Given the description of an element on the screen output the (x, y) to click on. 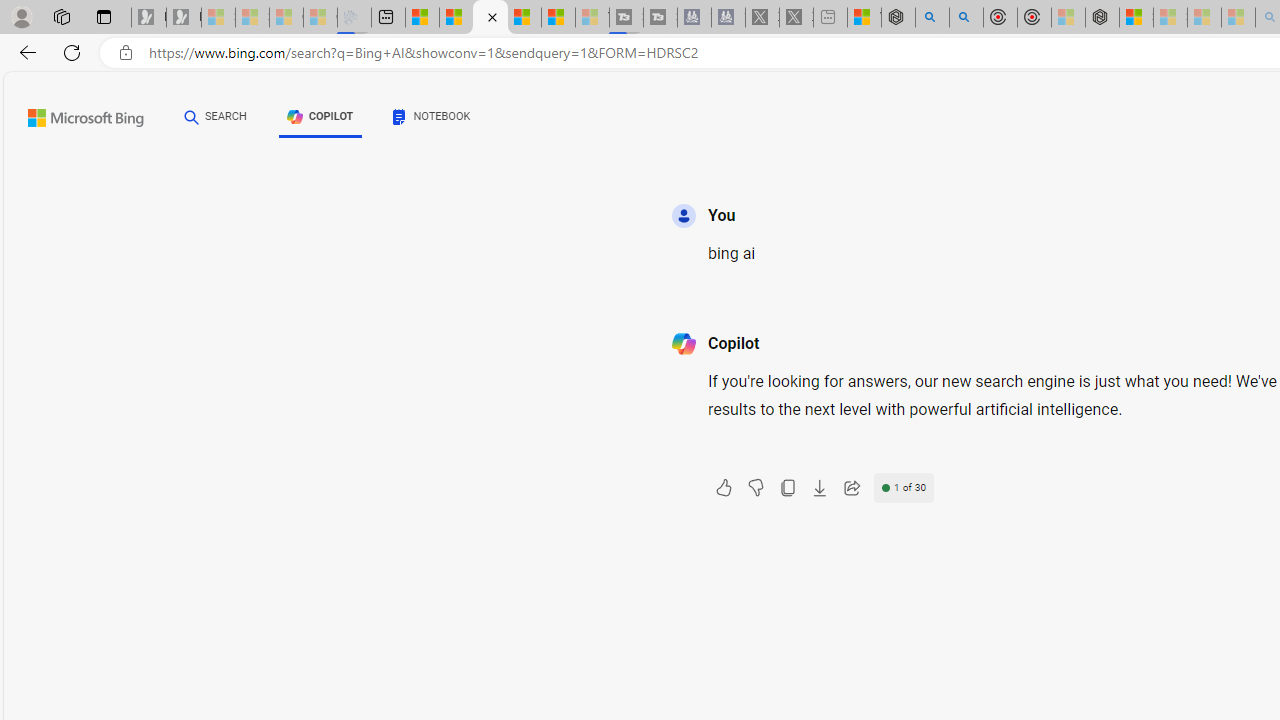
SEARCH (215, 117)
Skip to content (64, 111)
Share (851, 487)
SEARCH (215, 116)
Nordace - Nordace Siena Is Not An Ordinary Backpack (1101, 17)
NOTEBOOK (431, 120)
Like (723, 487)
